Given the description of an element on the screen output the (x, y) to click on. 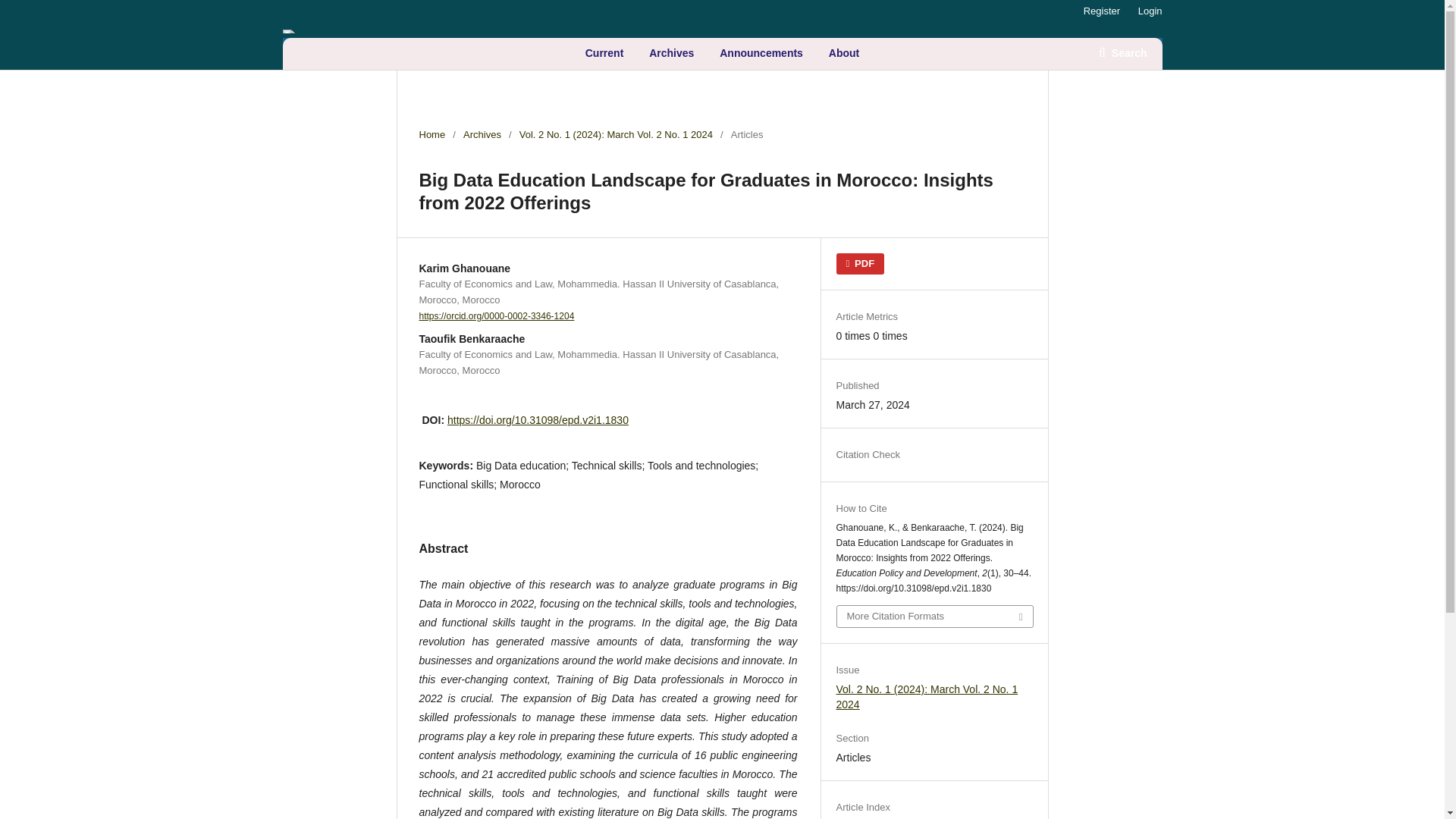
About (843, 53)
Archives (670, 53)
Login (1146, 11)
Search (1122, 52)
Current (603, 53)
More Citation Formats (934, 616)
PDF (859, 263)
Home (432, 134)
Register (1100, 11)
Archives (481, 134)
Download PDF Full Text (859, 263)
Announcements (760, 53)
